Given the description of an element on the screen output the (x, y) to click on. 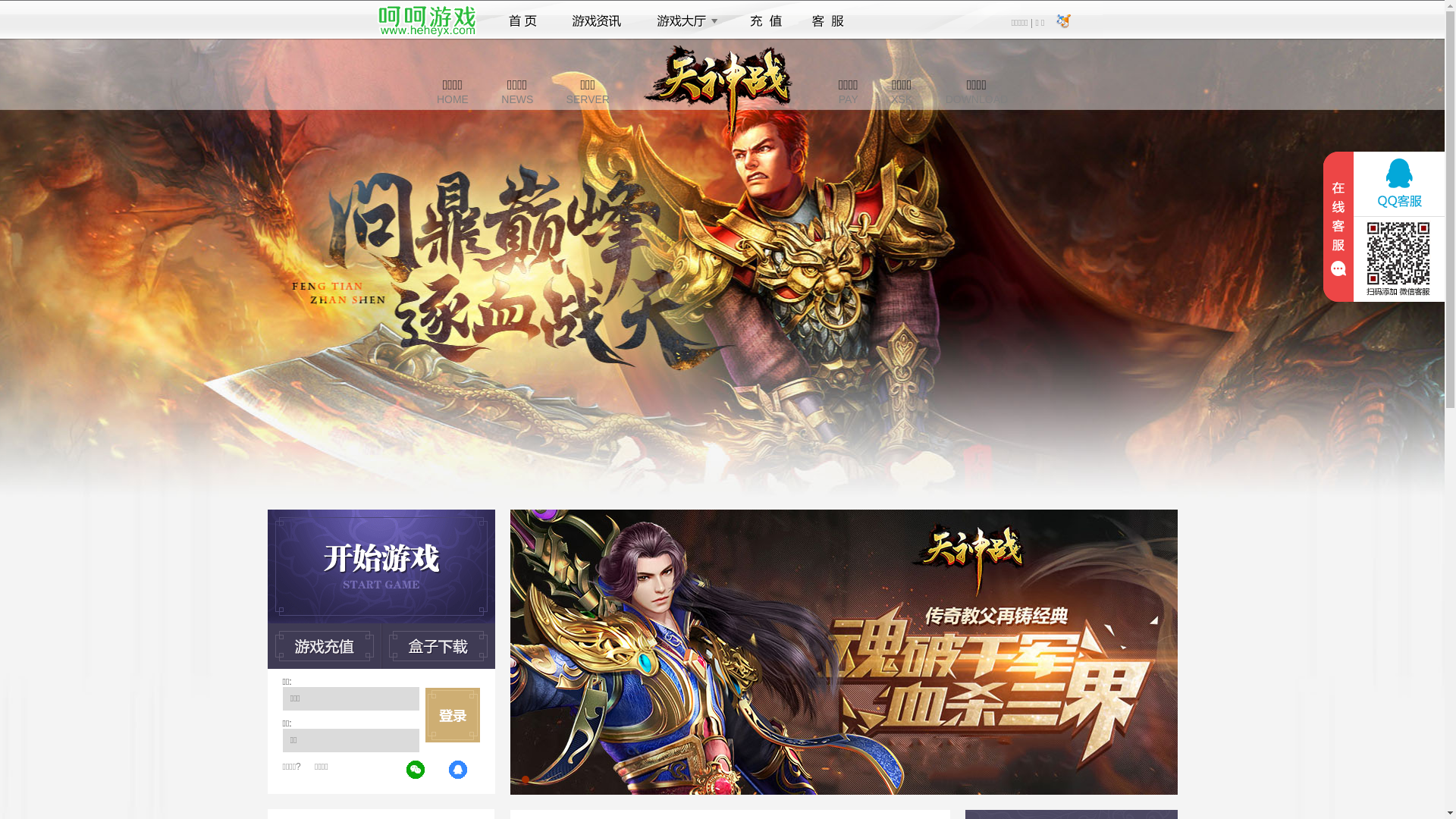
QQ Element type: hover (458, 770)
